Given the description of an element on the screen output the (x, y) to click on. 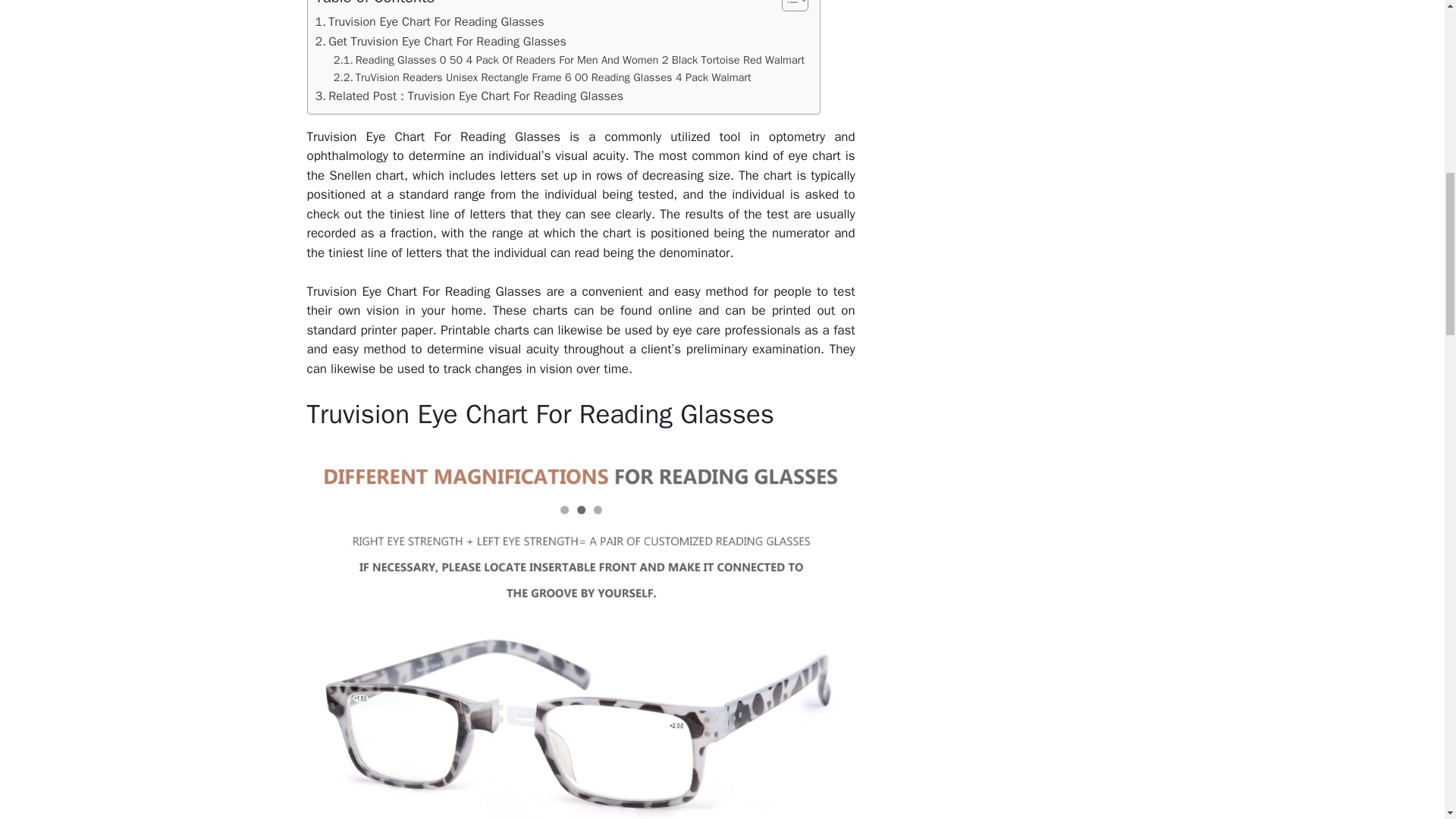
Related Post : Truvision Eye Chart For Reading Glasses (469, 96)
Truvision Eye Chart For Reading Glasses (429, 21)
Get Truvision Eye Chart For Reading Glasses (440, 41)
Get Truvision Eye Chart For Reading Glasses (440, 41)
Related Post : Truvision Eye Chart For Reading Glasses (469, 96)
Truvision Eye Chart For Reading Glasses (429, 21)
